Given the description of an element on the screen output the (x, y) to click on. 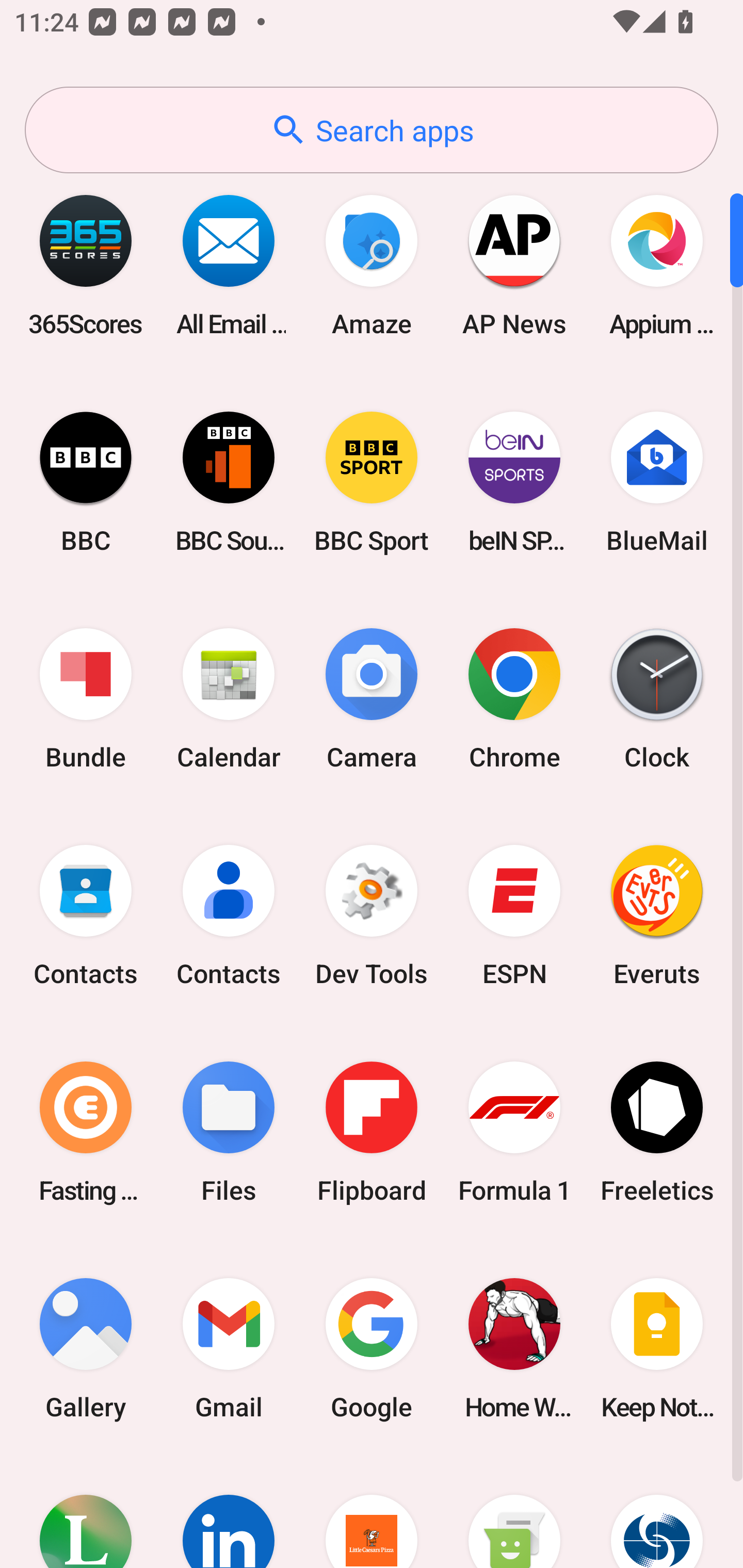
  Search apps (371, 130)
365Scores (85, 264)
All Email Connect (228, 264)
Amaze (371, 264)
AP News (514, 264)
Appium Settings (656, 264)
BBC (85, 482)
BBC Sounds (228, 482)
BBC Sport (371, 482)
beIN SPORTS (514, 482)
BlueMail (656, 482)
Bundle (85, 699)
Calendar (228, 699)
Camera (371, 699)
Chrome (514, 699)
Clock (656, 699)
Contacts (85, 915)
Contacts (228, 915)
Dev Tools (371, 915)
ESPN (514, 915)
Everuts (656, 915)
Fasting Coach (85, 1131)
Files (228, 1131)
Flipboard (371, 1131)
Formula 1 (514, 1131)
Freeletics (656, 1131)
Gallery (85, 1348)
Gmail (228, 1348)
Google (371, 1348)
Home Workout (514, 1348)
Keep Notes (656, 1348)
Lifesum (85, 1512)
LinkedIn (228, 1512)
Little Caesars Pizza (371, 1512)
Messaging (514, 1512)
MyObservatory (656, 1512)
